Given the description of an element on the screen output the (x, y) to click on. 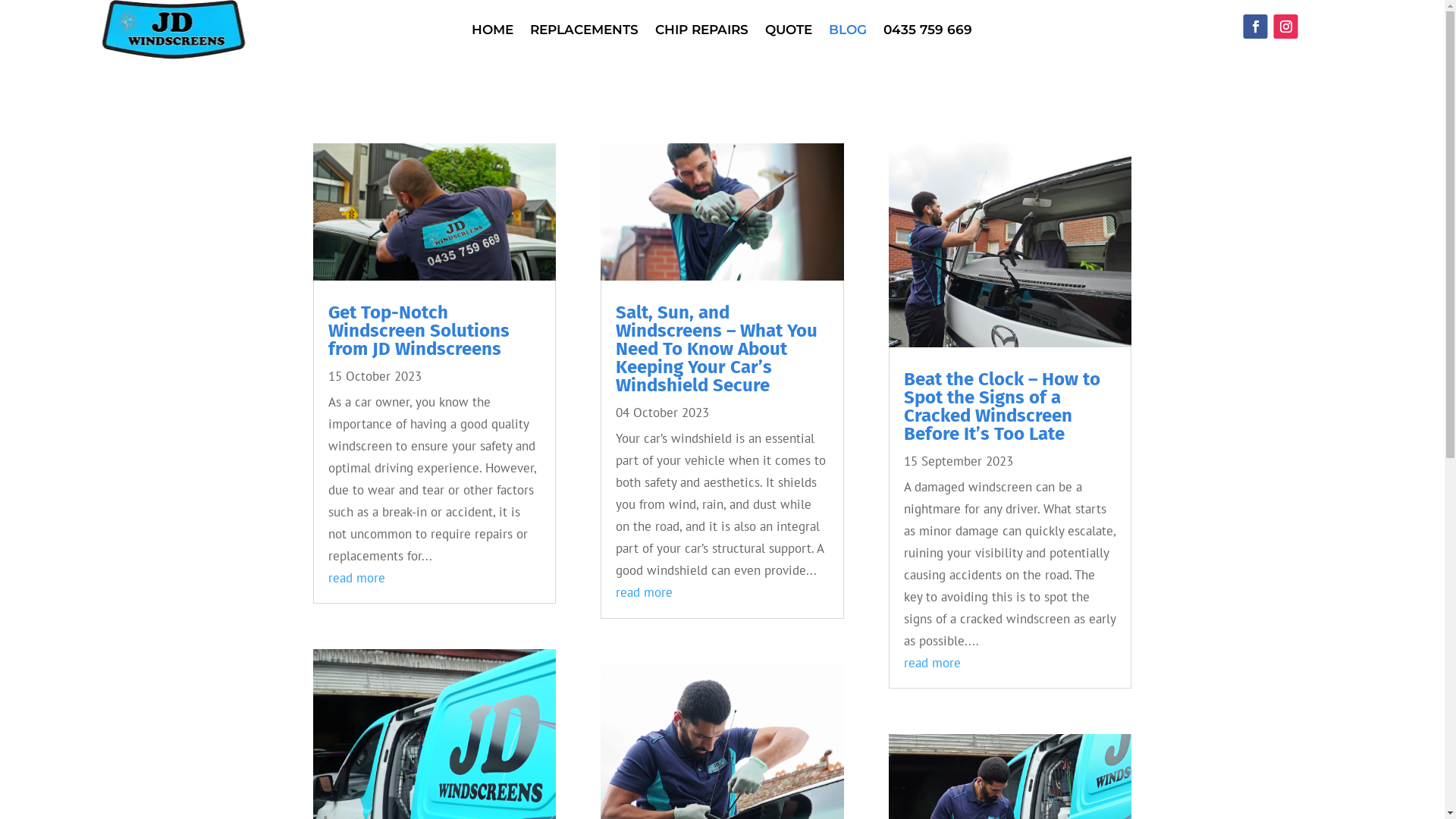
Follow on Facebook Element type: hover (1255, 26)
Get Top-Notch Windscreen Solutions from JD Windscreens Element type: text (417, 330)
REPLACEMENTS Element type: text (584, 32)
HOME Element type: text (492, 32)
QUOTE Element type: text (788, 32)
0435 759 669 Element type: text (927, 32)
read more Element type: text (931, 662)
Follow on Instagram Element type: hover (1286, 26)
BLOG Element type: text (847, 32)
CHIP REPAIRS Element type: text (701, 32)
read more Element type: text (643, 591)
read more Element type: text (355, 577)
JD Windscreens Logo Element type: hover (172, 29)
